Given the description of an element on the screen output the (x, y) to click on. 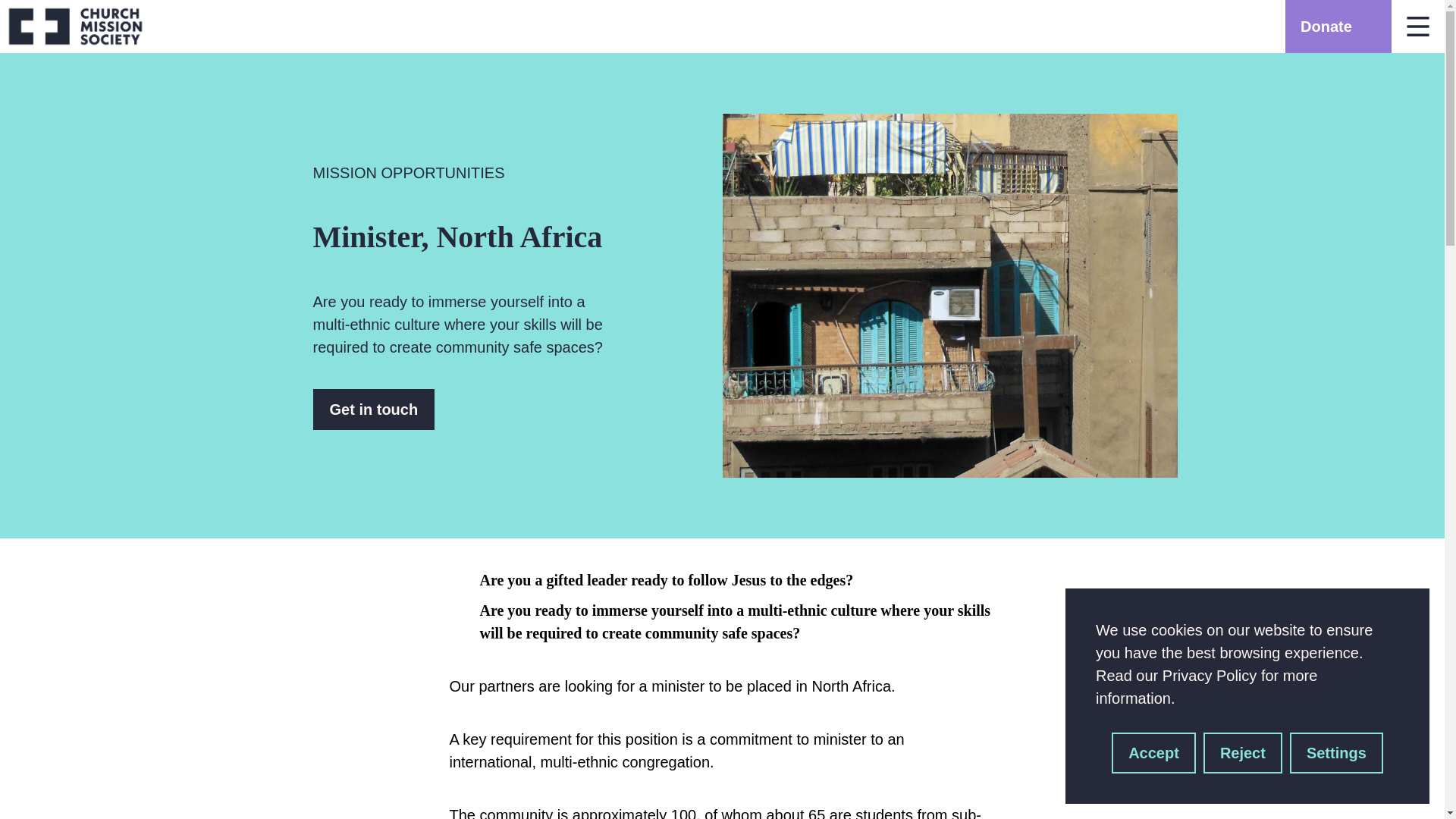
Donate (1338, 26)
Get in touch (373, 409)
